Given the description of an element on the screen output the (x, y) to click on. 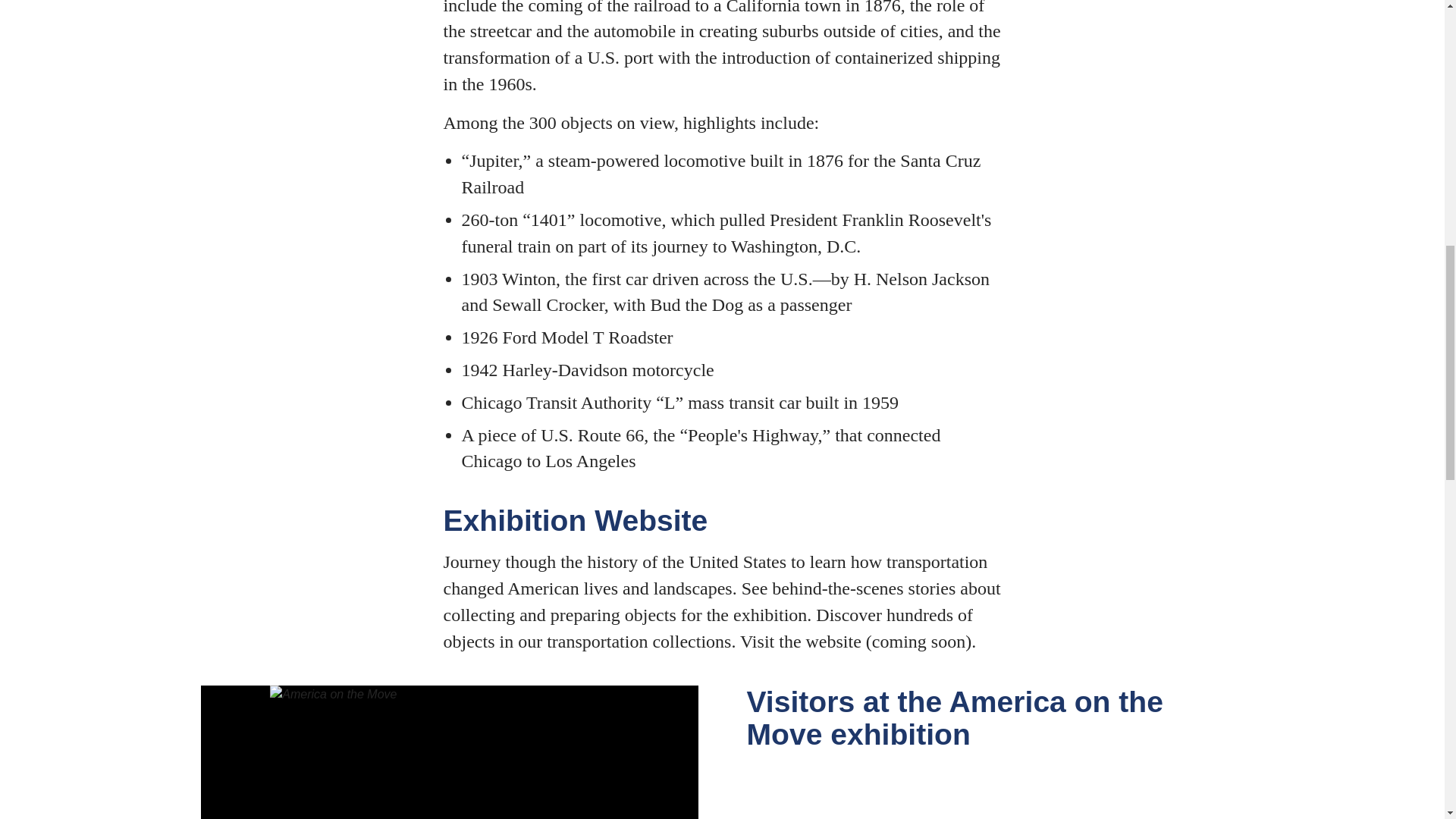
Visitors at the America on the Move exhibition (448, 752)
